Given the description of an element on the screen output the (x, y) to click on. 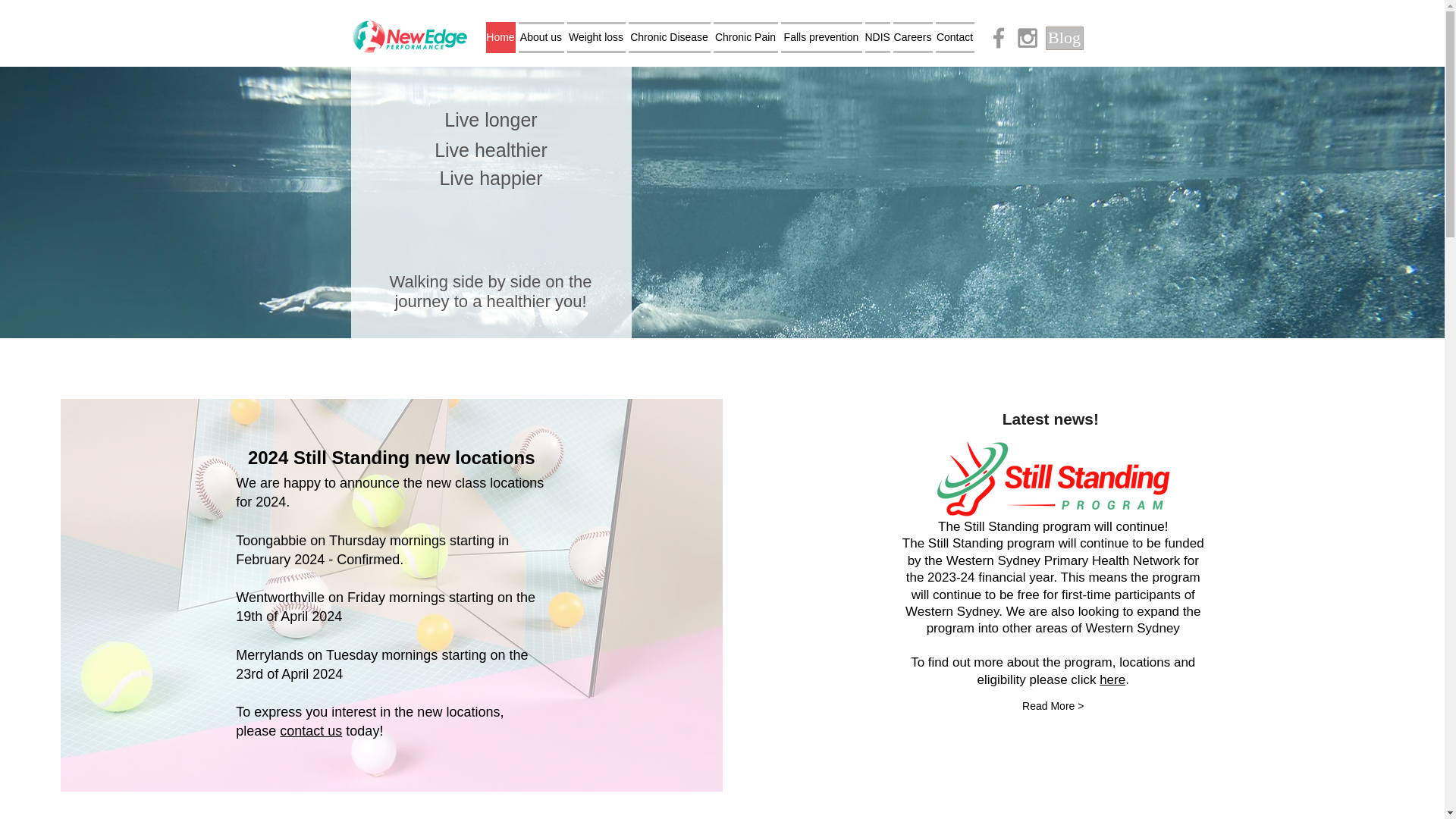
About us (541, 37)
Home (499, 37)
Chronic Pain (744, 37)
NDIS (877, 37)
Weight loss (596, 37)
Chronic Disease (668, 37)
Falls prevention (820, 37)
